Given the description of an element on the screen output the (x, y) to click on. 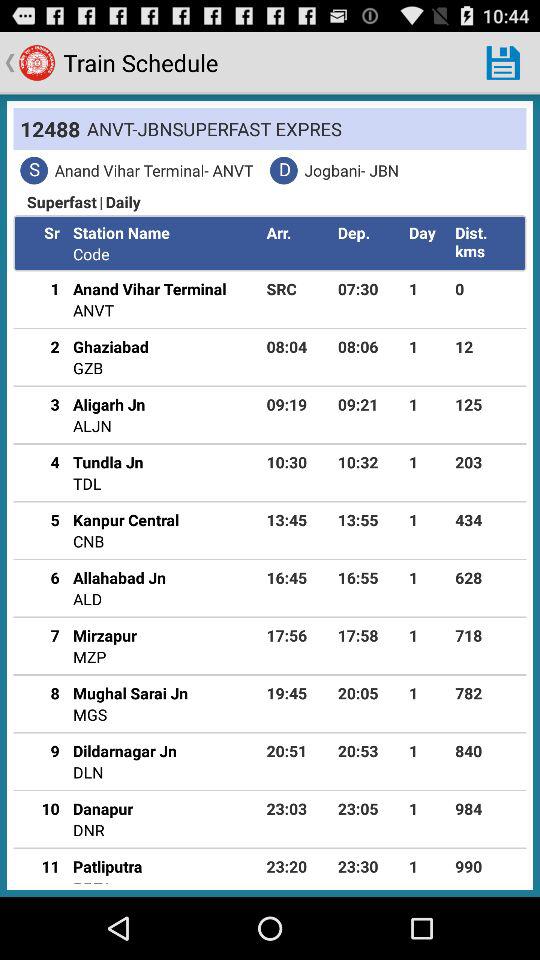
press icon above ppta item (107, 866)
